Given the description of an element on the screen output the (x, y) to click on. 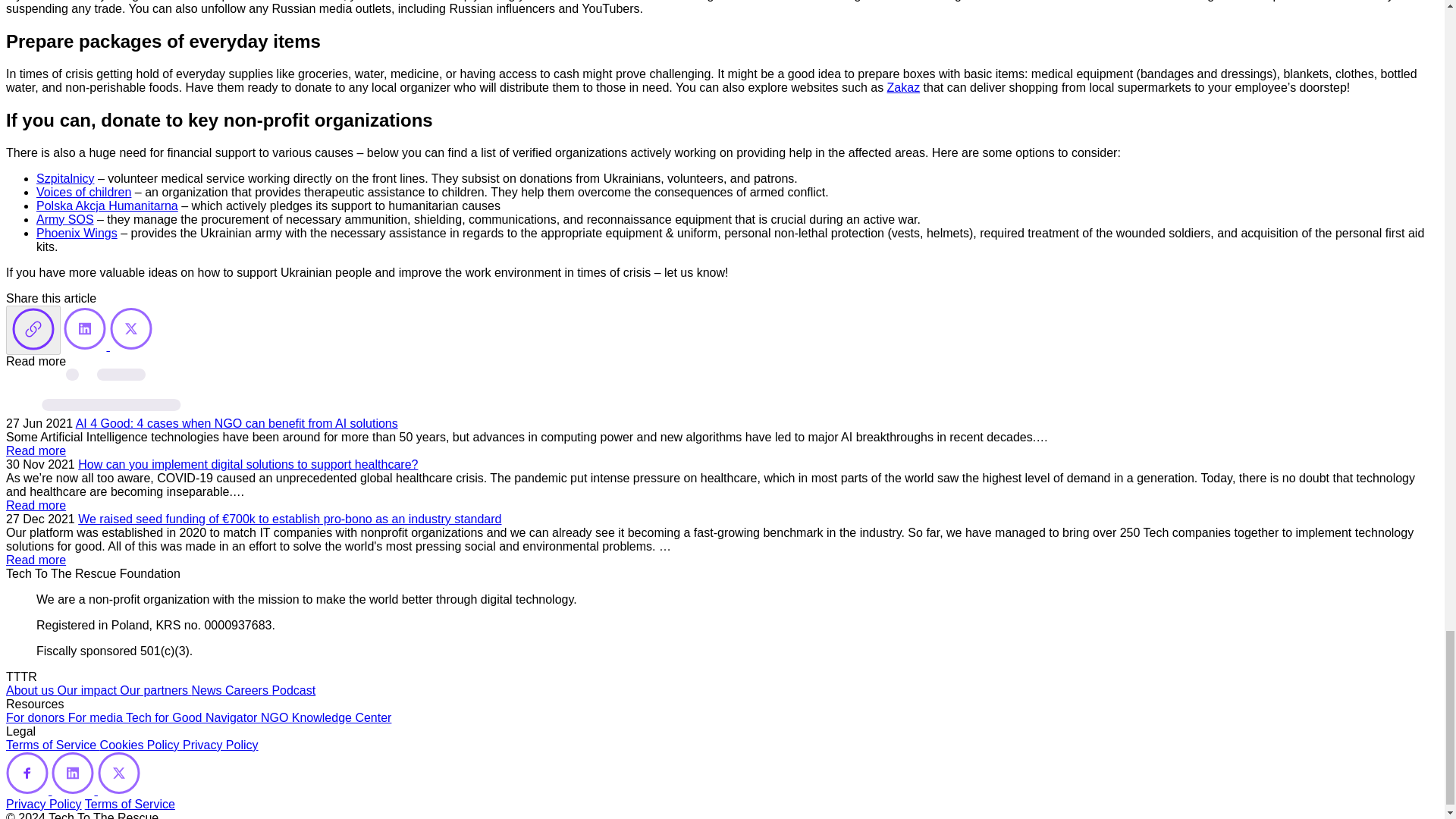
Careers (247, 689)
For media (96, 717)
Read more (35, 450)
About us (31, 689)
For donors (36, 717)
Szpitalnicy (65, 178)
Read more (35, 559)
AI 4 Good: 4 cases when NGO can benefit from AI solutions (236, 422)
Our partners (154, 689)
Army SOS (65, 219)
Voices of children (83, 192)
Phoenix Wings (76, 232)
Read more (35, 504)
Cookies Policy (141, 744)
